Given the description of an element on the screen output the (x, y) to click on. 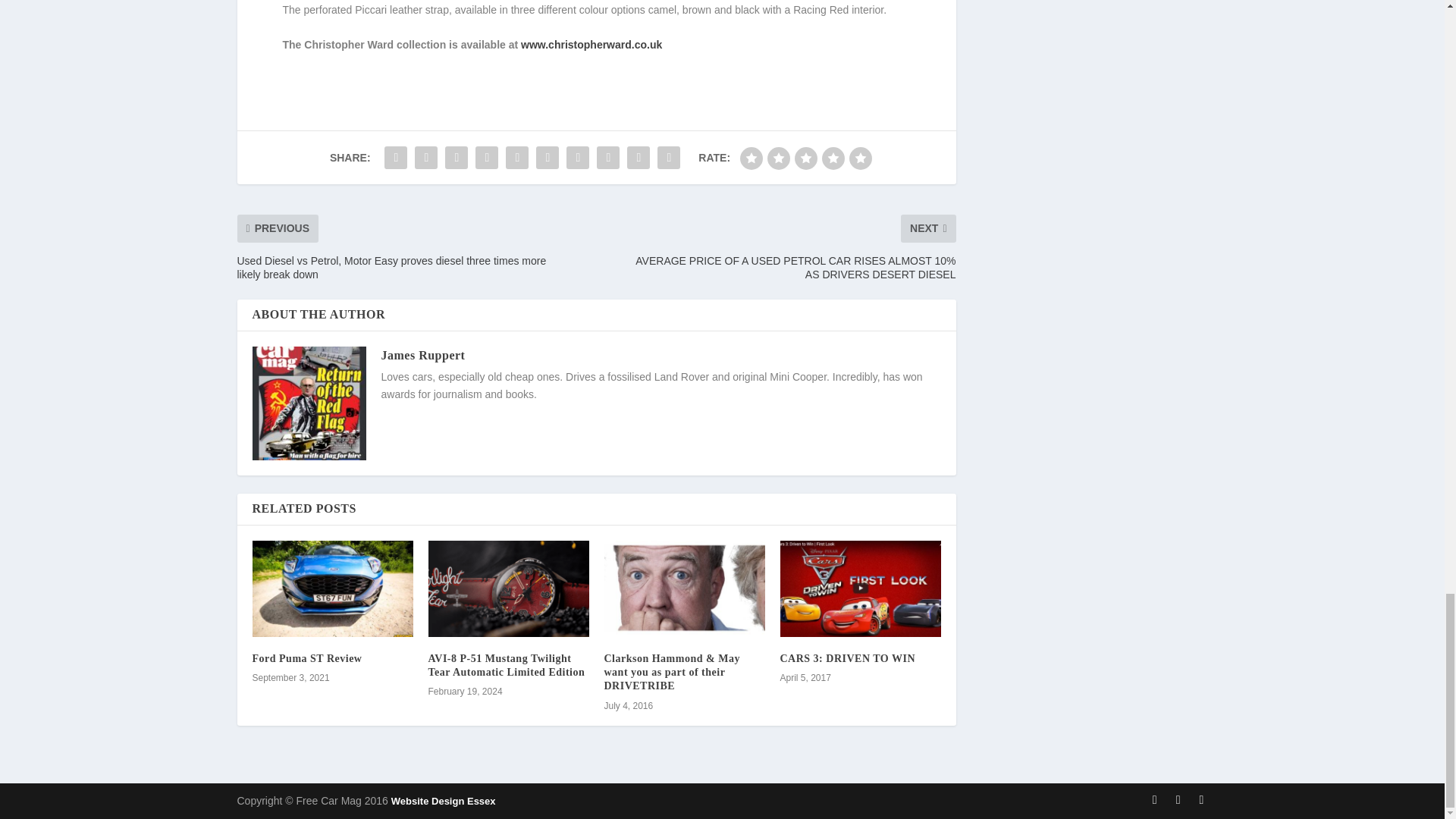
www.christopherward.co.uk (591, 44)
